Given the description of an element on the screen output the (x, y) to click on. 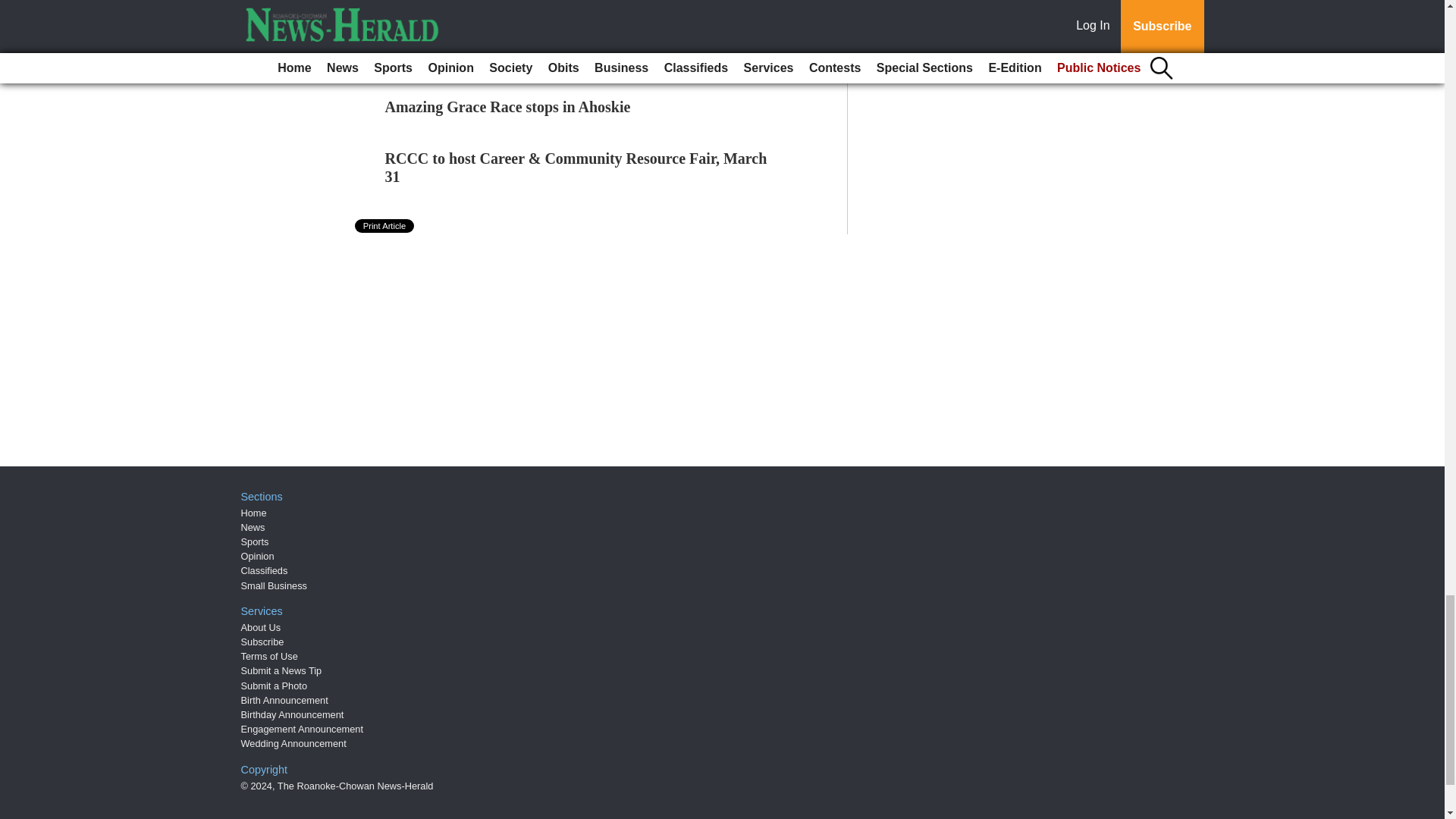
Three charged in Wednesday shooting (508, 54)
Amazing Grace Race stops in Ahoskie (507, 106)
Amazing Grace Race stops in Ahoskie (507, 106)
Three charged in Wednesday shooting (508, 54)
